Given the description of an element on the screen output the (x, y) to click on. 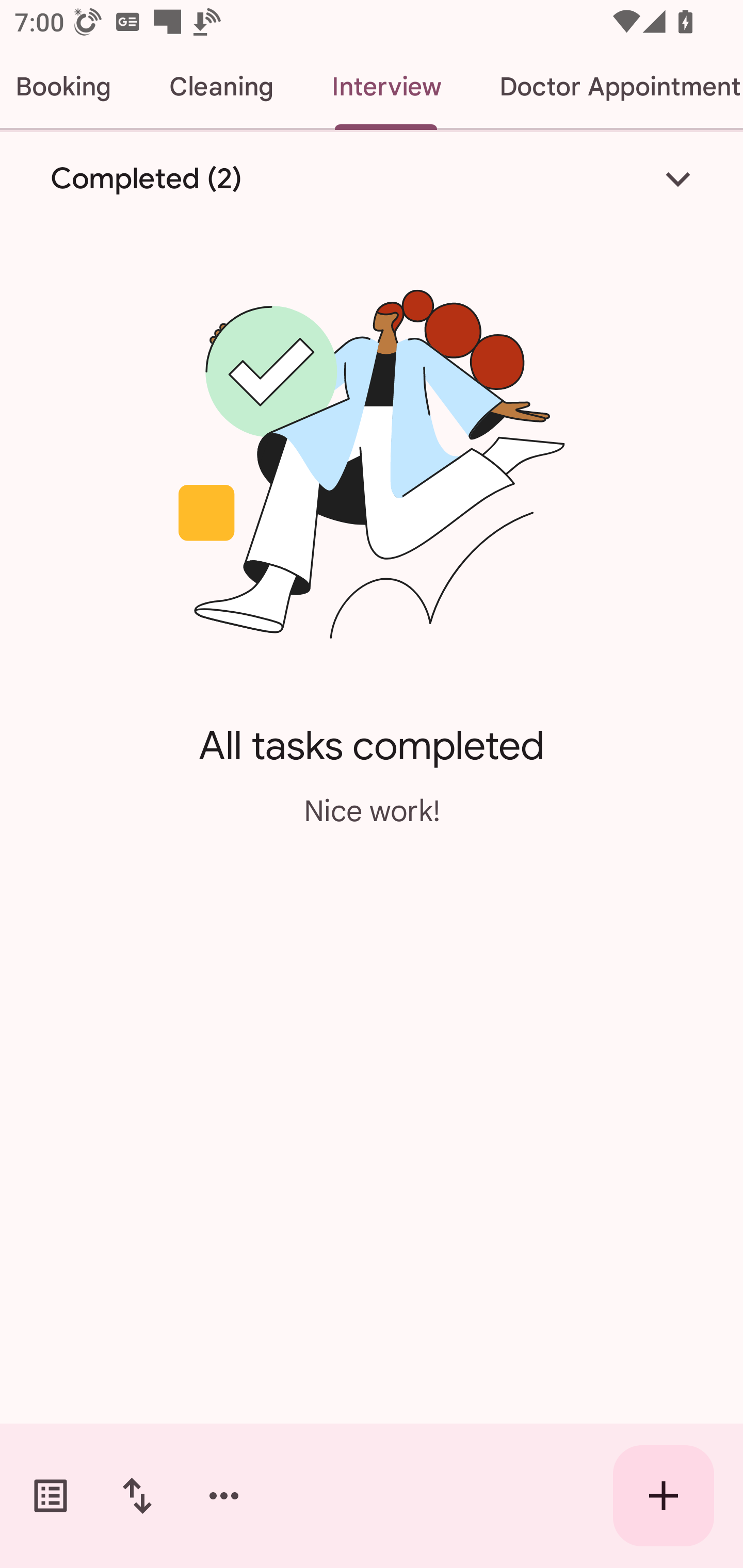
Hotel Booking (69, 86)
Cleaning (220, 86)
Doctor Appointment (606, 86)
Completed (2) (371, 178)
Switch task lists (50, 1495)
Create new task (663, 1495)
Change sort order (136, 1495)
More options (223, 1495)
